Given the description of an element on the screen output the (x, y) to click on. 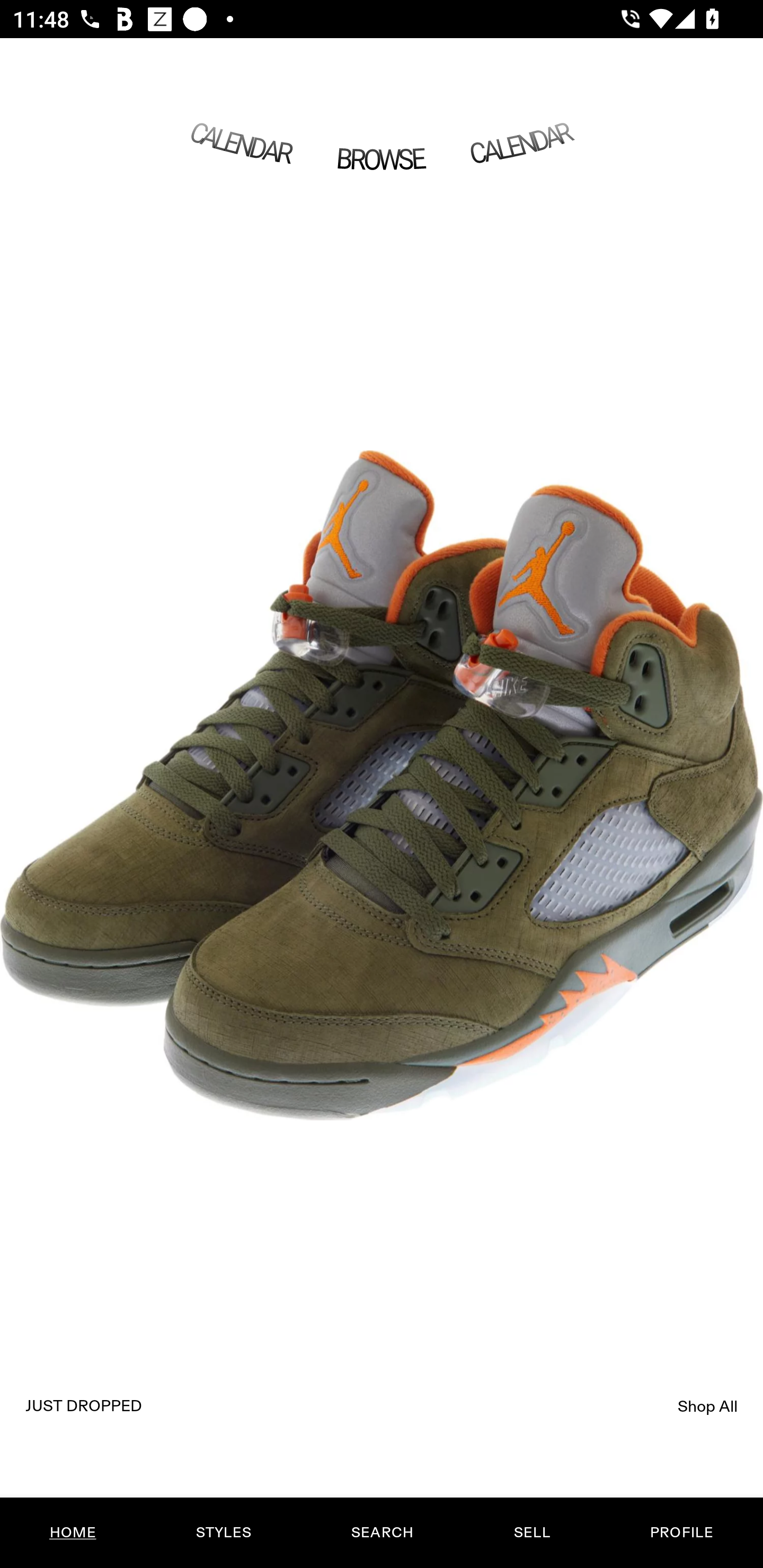
Shop All (707, 1406)
HOME (72, 1532)
STYLES (222, 1532)
SEARCH (381, 1532)
SELL (531, 1532)
PROFILE (681, 1532)
